Given the description of an element on the screen output the (x, y) to click on. 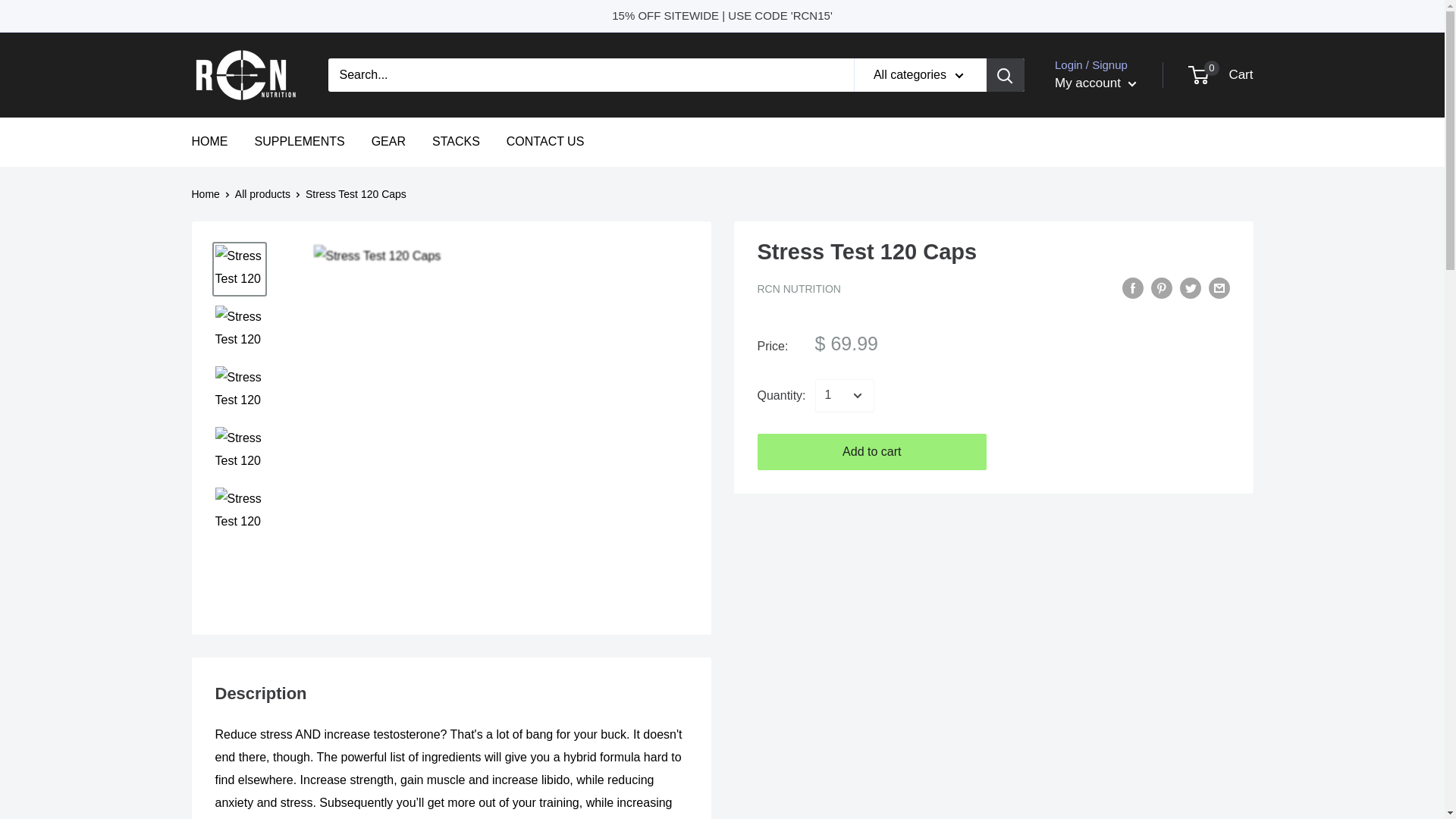
My account (1095, 83)
HOME (208, 141)
CONTACT US (1221, 74)
GEAR (545, 141)
All products (388, 141)
Home (261, 193)
RCN NUTRITION (204, 193)
SUPPLEMENTS (798, 288)
STACKS (299, 141)
